Given the description of an element on the screen output the (x, y) to click on. 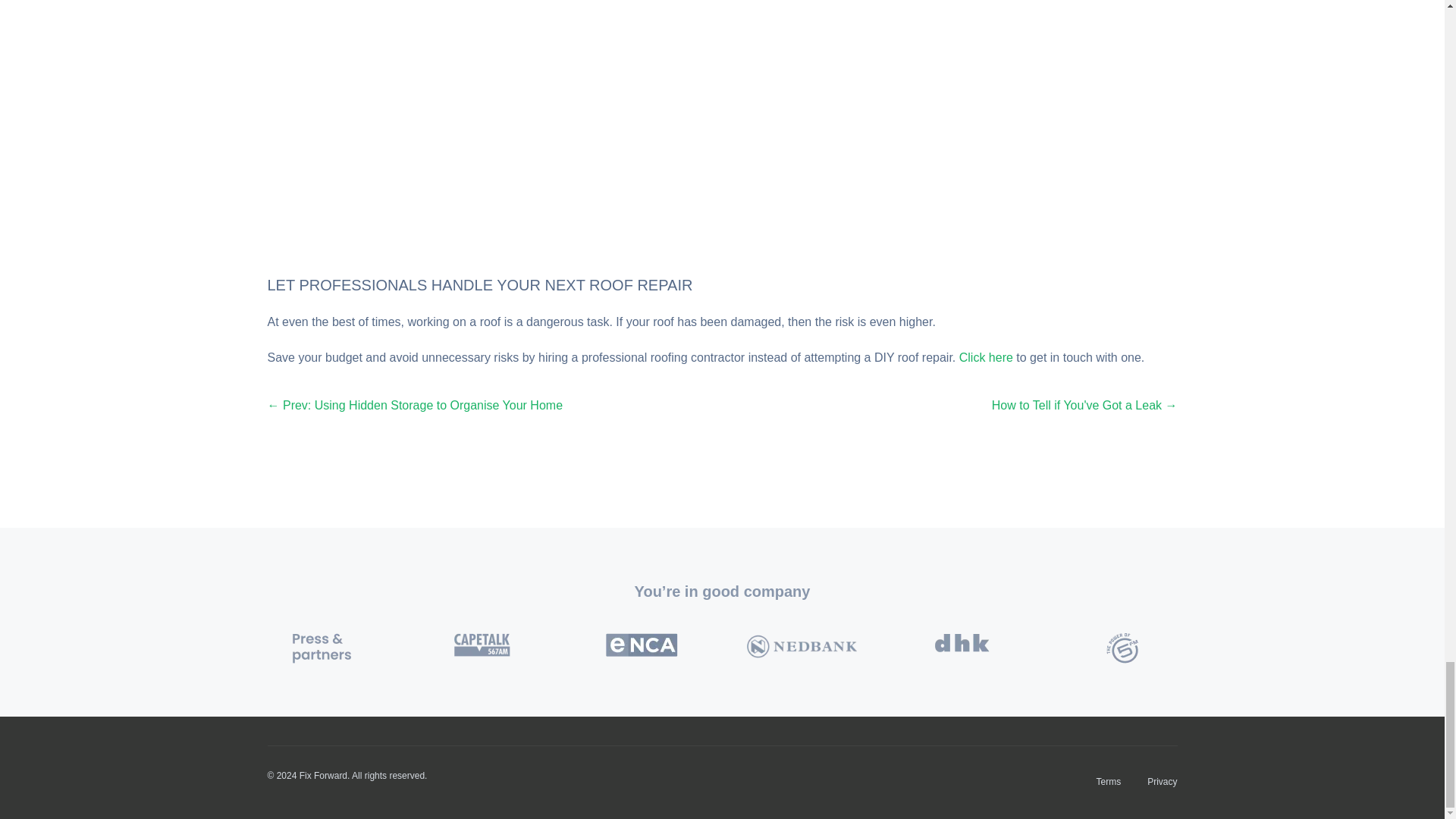
Capetalk Logo (482, 644)
Netbank Logo (801, 645)
Terms (1106, 781)
Click here (986, 357)
dhk Logo (962, 642)
5fm Logo (1122, 648)
Privacy (1159, 781)
E NCA Logo (641, 644)
